Given the description of an element on the screen output the (x, y) to click on. 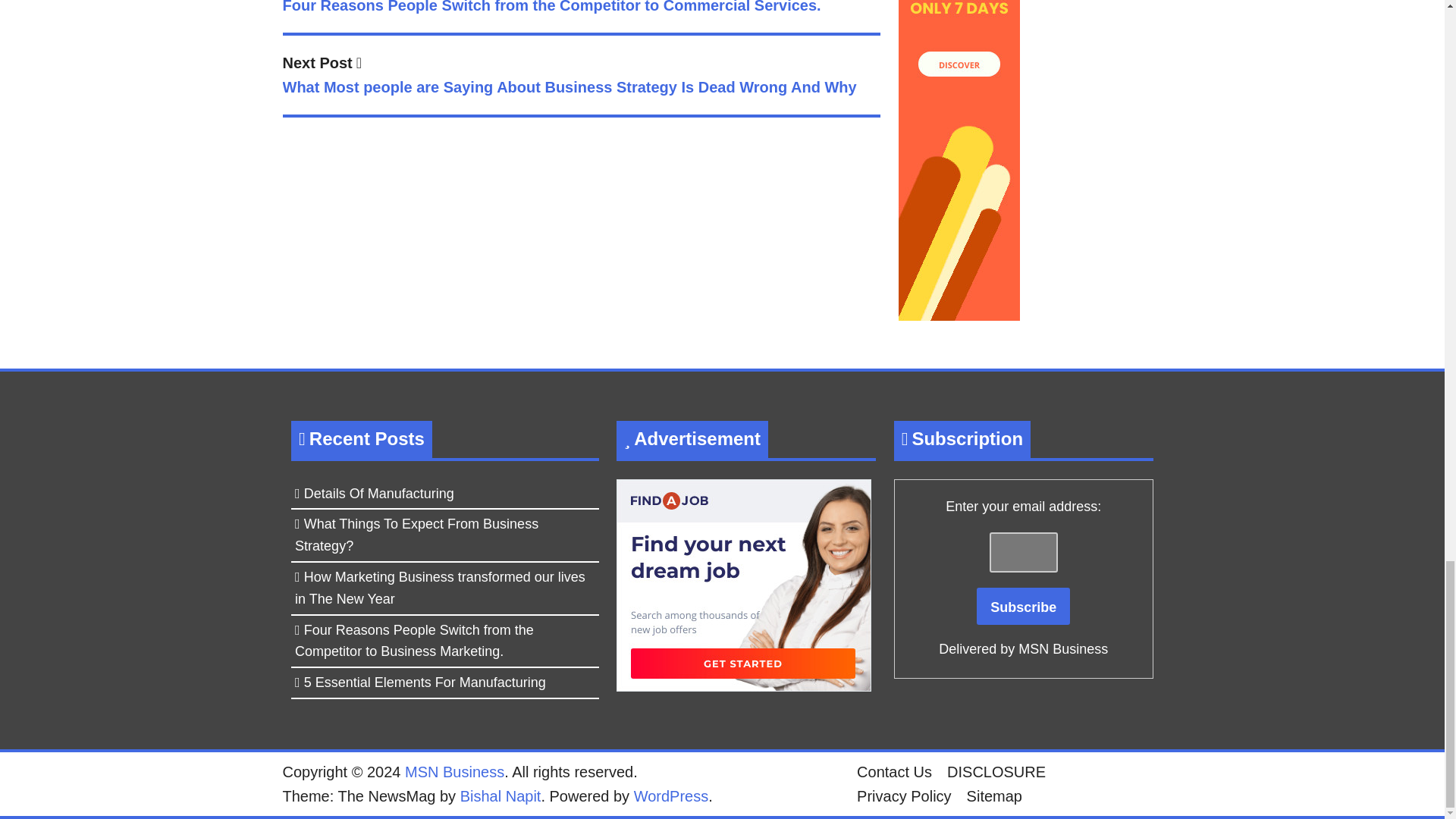
WordPress (671, 795)
Bishal Napit (500, 795)
Subscribe (1023, 606)
MSN Business (453, 771)
